Given the description of an element on the screen output the (x, y) to click on. 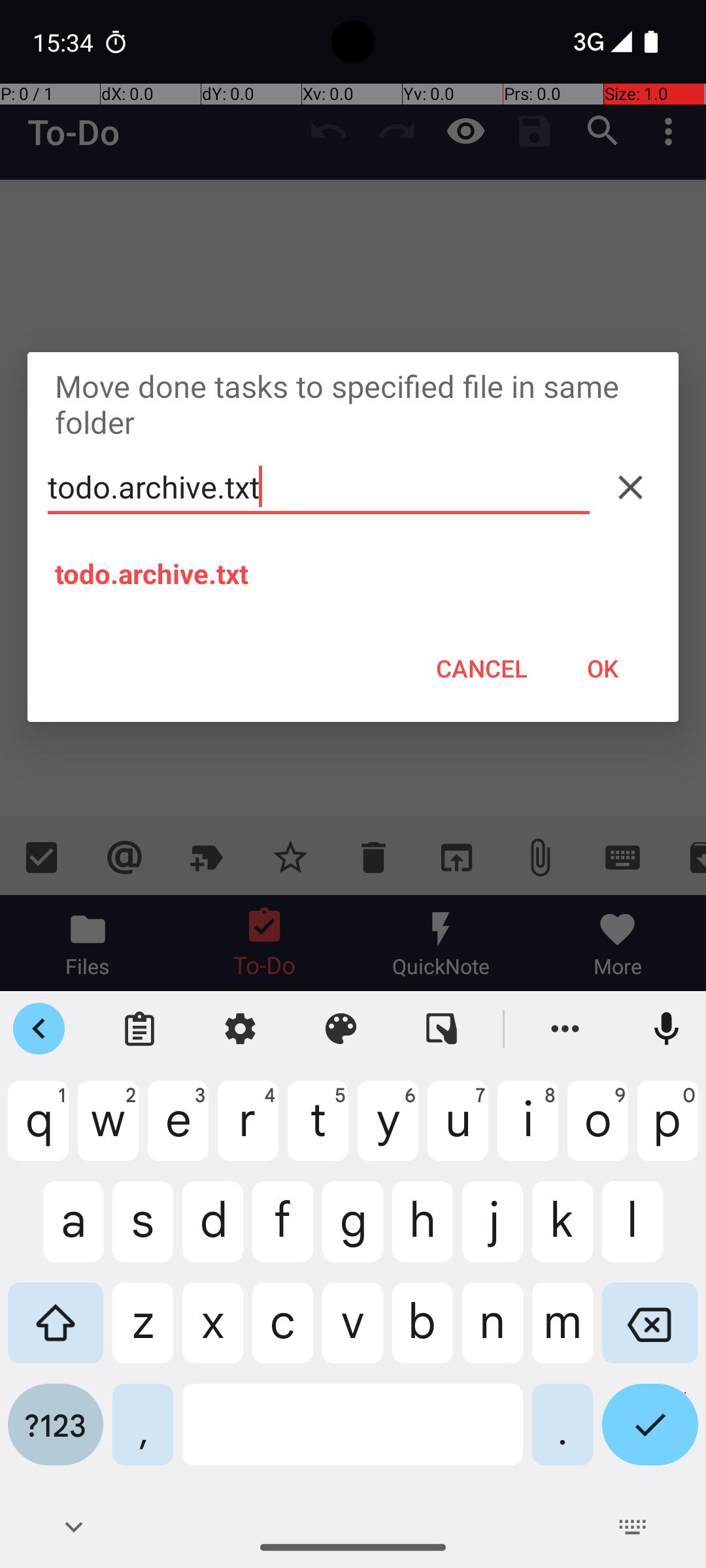
Move done tasks to specified file in same folder Element type: android.widget.TextView (352, 403)
todo.archive.txt Element type: android.widget.EditText (318, 486)
